Given the description of an element on the screen output the (x, y) to click on. 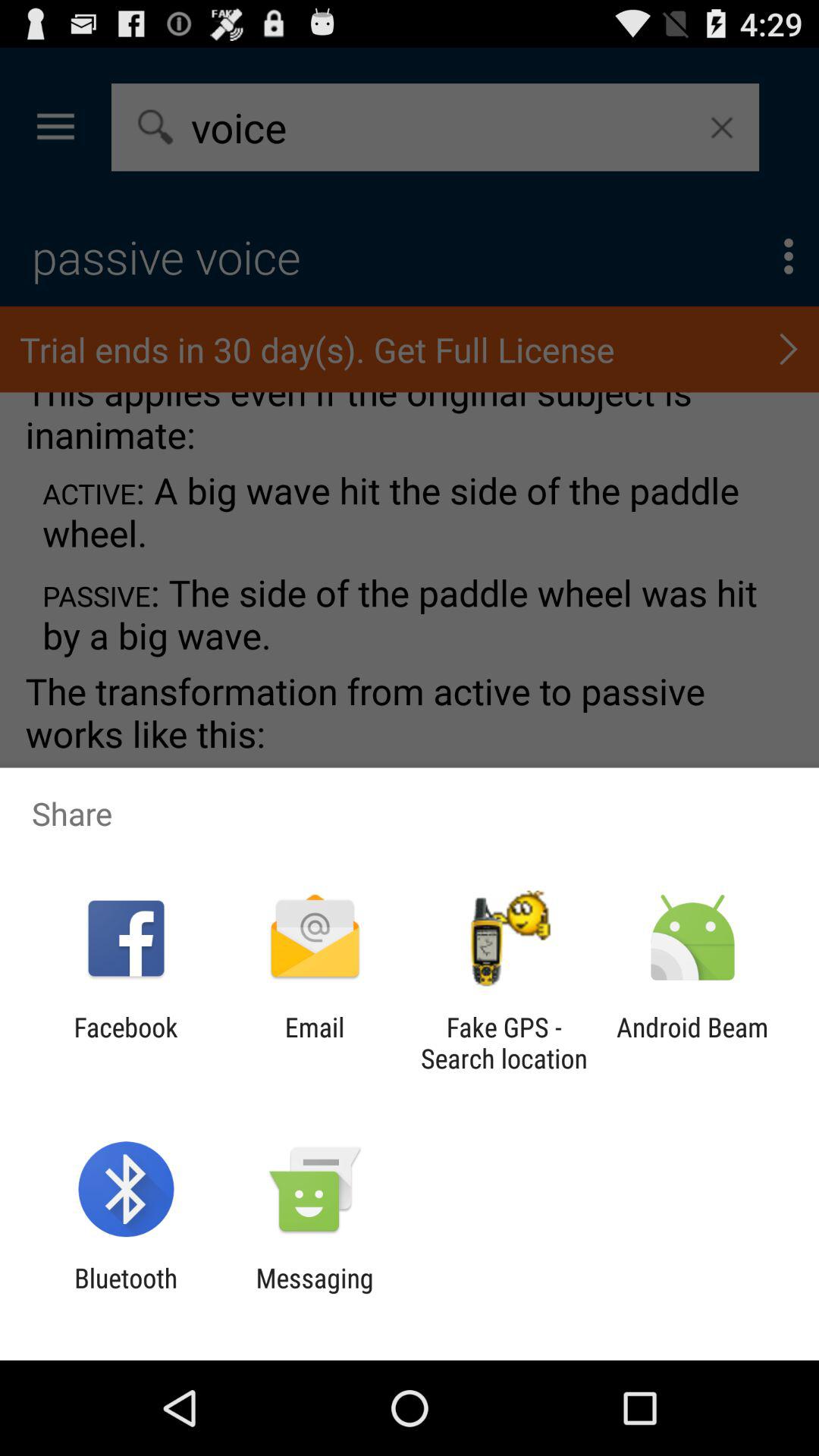
launch the icon next to messaging icon (125, 1293)
